Given the description of an element on the screen output the (x, y) to click on. 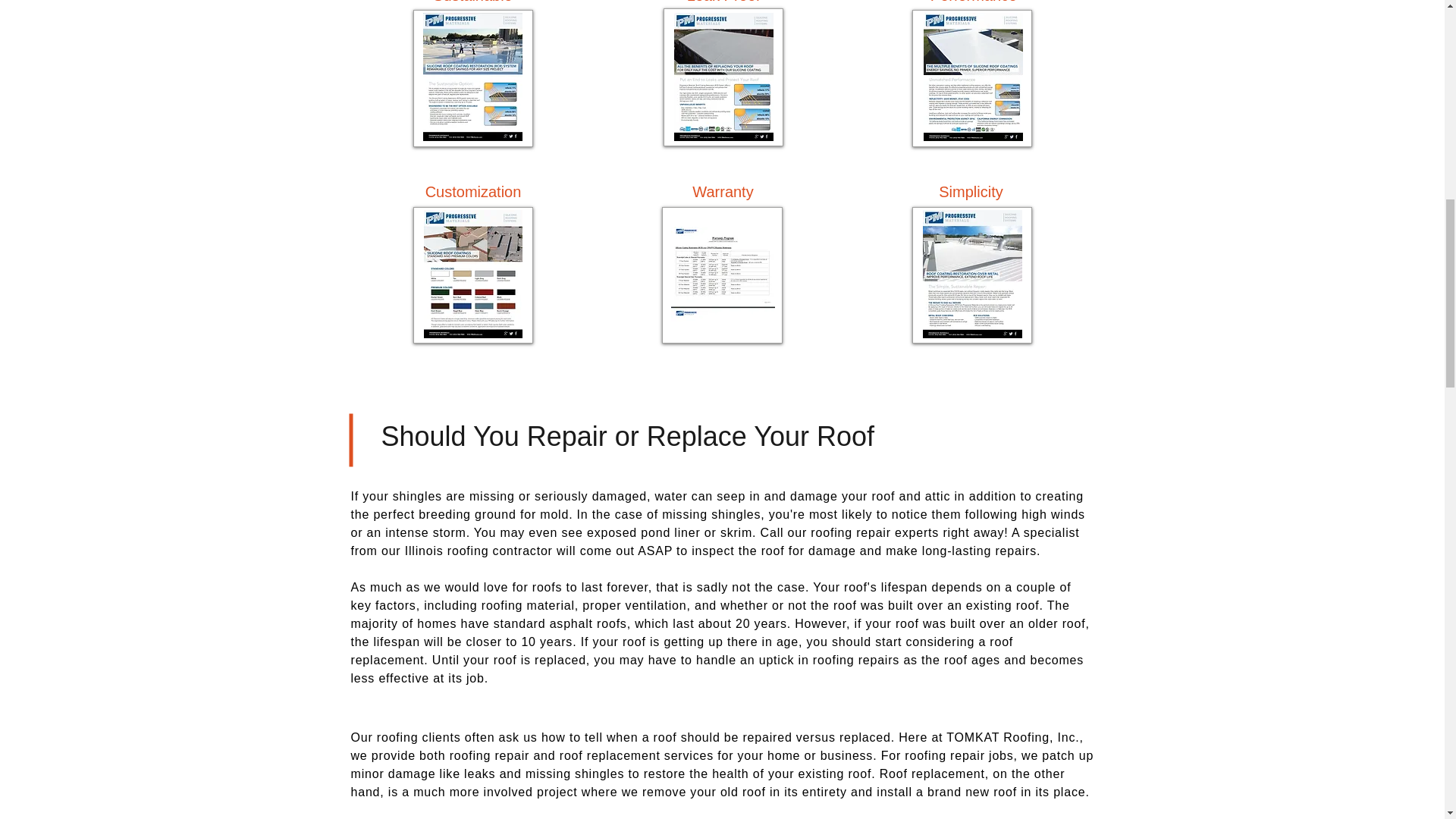
silicone Restoration-RCR-Digital-Compres (472, 78)
